Given the description of an element on the screen output the (x, y) to click on. 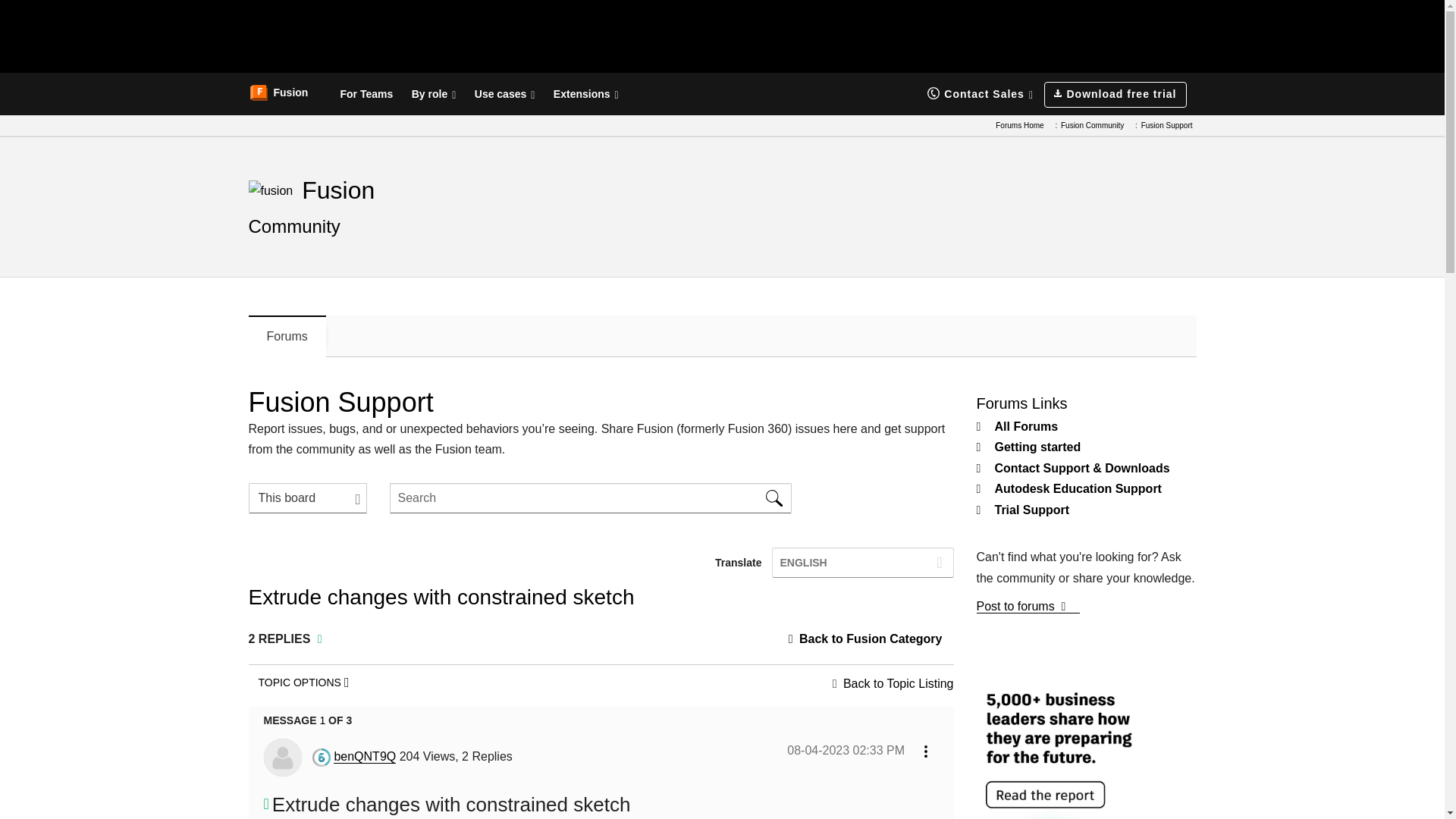
Contact Sales (980, 93)
Search Granularity (307, 498)
Download free trial (1114, 94)
Extensions (586, 93)
Search (591, 498)
Fusion (277, 92)
For Teams (365, 93)
Use cases (505, 93)
By role (434, 93)
Search (774, 498)
